Given the description of an element on the screen output the (x, y) to click on. 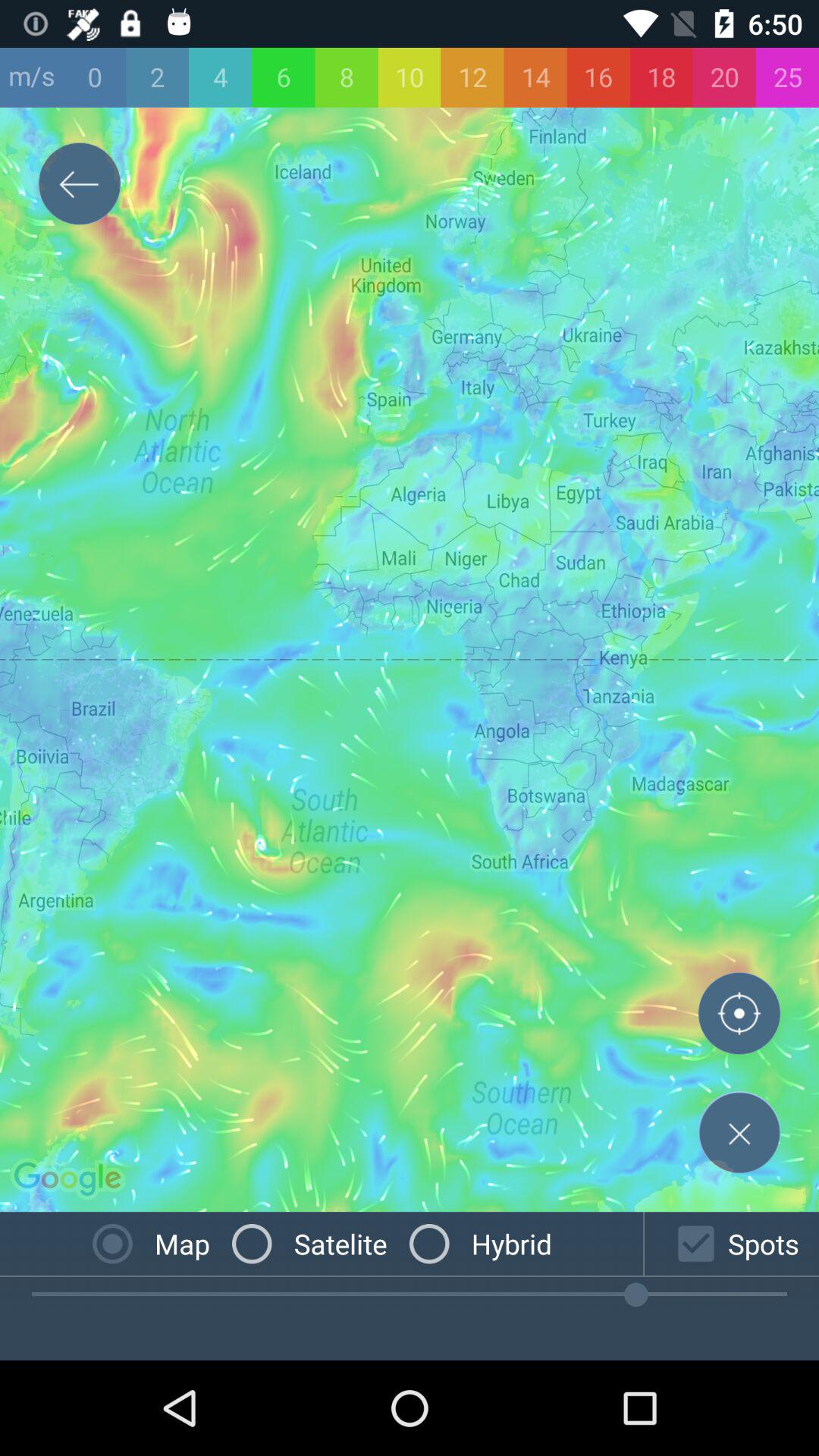
map (739, 1132)
